Given the description of an element on the screen output the (x, y) to click on. 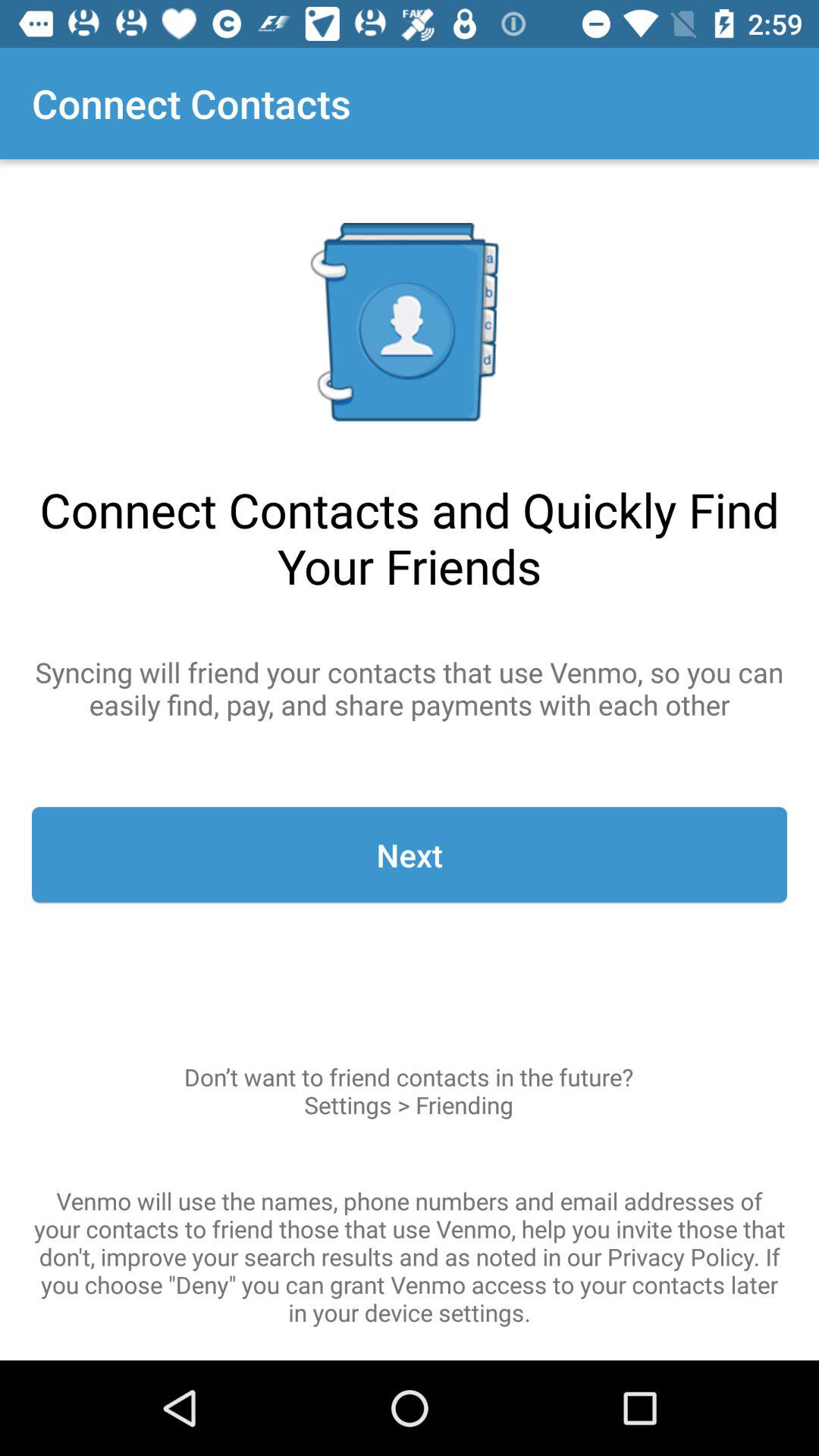
choose next (409, 854)
